Given the description of an element on the screen output the (x, y) to click on. 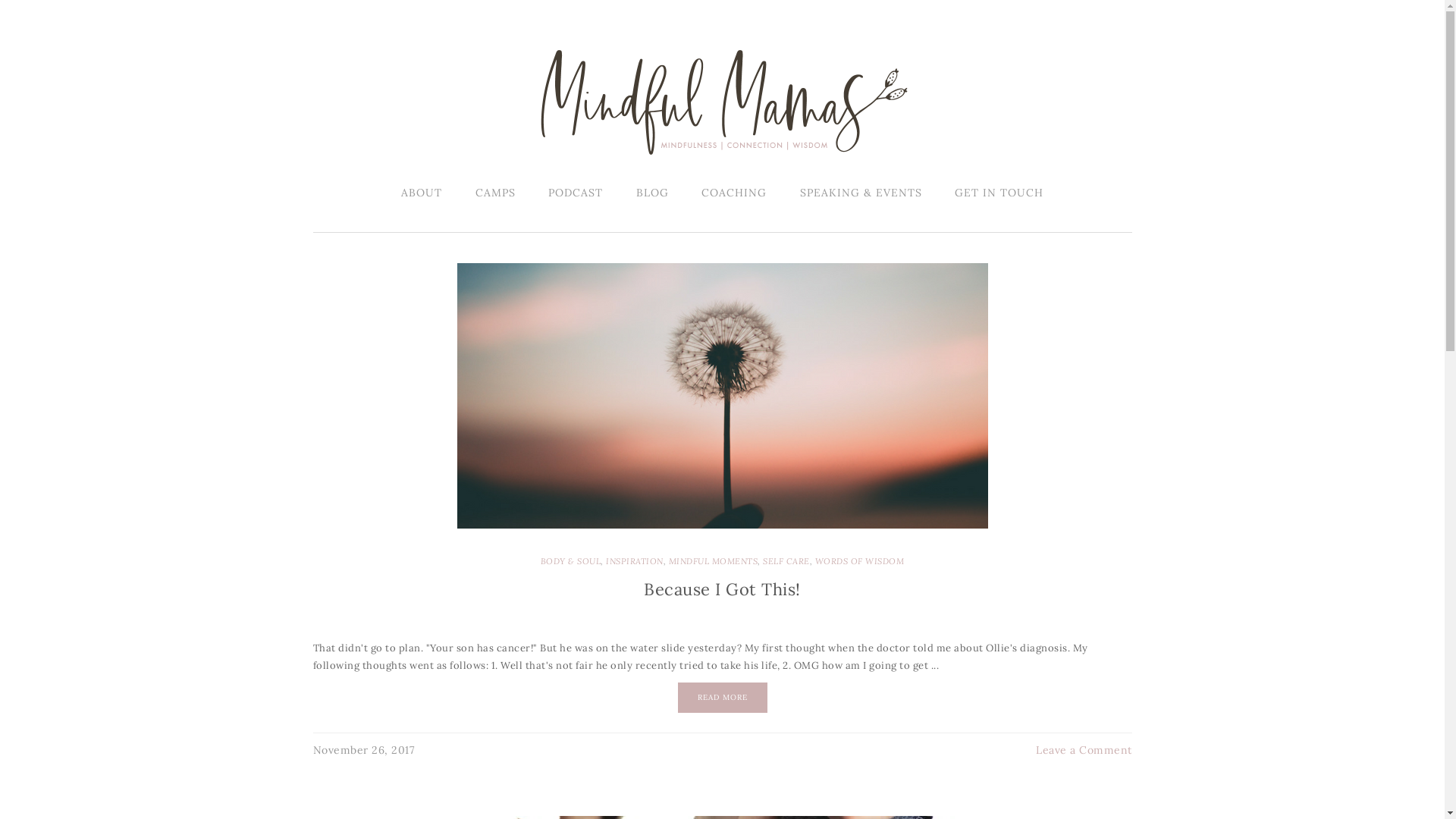
READ MORE Element type: text (722, 697)
COACHING Element type: text (733, 192)
BLOG Element type: text (651, 192)
SELF CARE Element type: text (785, 560)
PODCAST Element type: text (575, 192)
BODY & SOUL Element type: text (570, 560)
MINDFUL MAMAS Element type: text (721, 102)
WORDS OF WISDOM Element type: text (859, 560)
CAMPS Element type: text (494, 192)
ABOUT Element type: text (421, 192)
GET IN TOUCH Element type: text (998, 192)
MINDFUL MOMENTS Element type: text (713, 560)
Leave a Comment Element type: text (1083, 749)
INSPIRATION Element type: text (634, 560)
SPEAKING & EVENTS Element type: text (860, 192)
Because I Got This! Element type: text (721, 588)
